Given the description of an element on the screen output the (x, y) to click on. 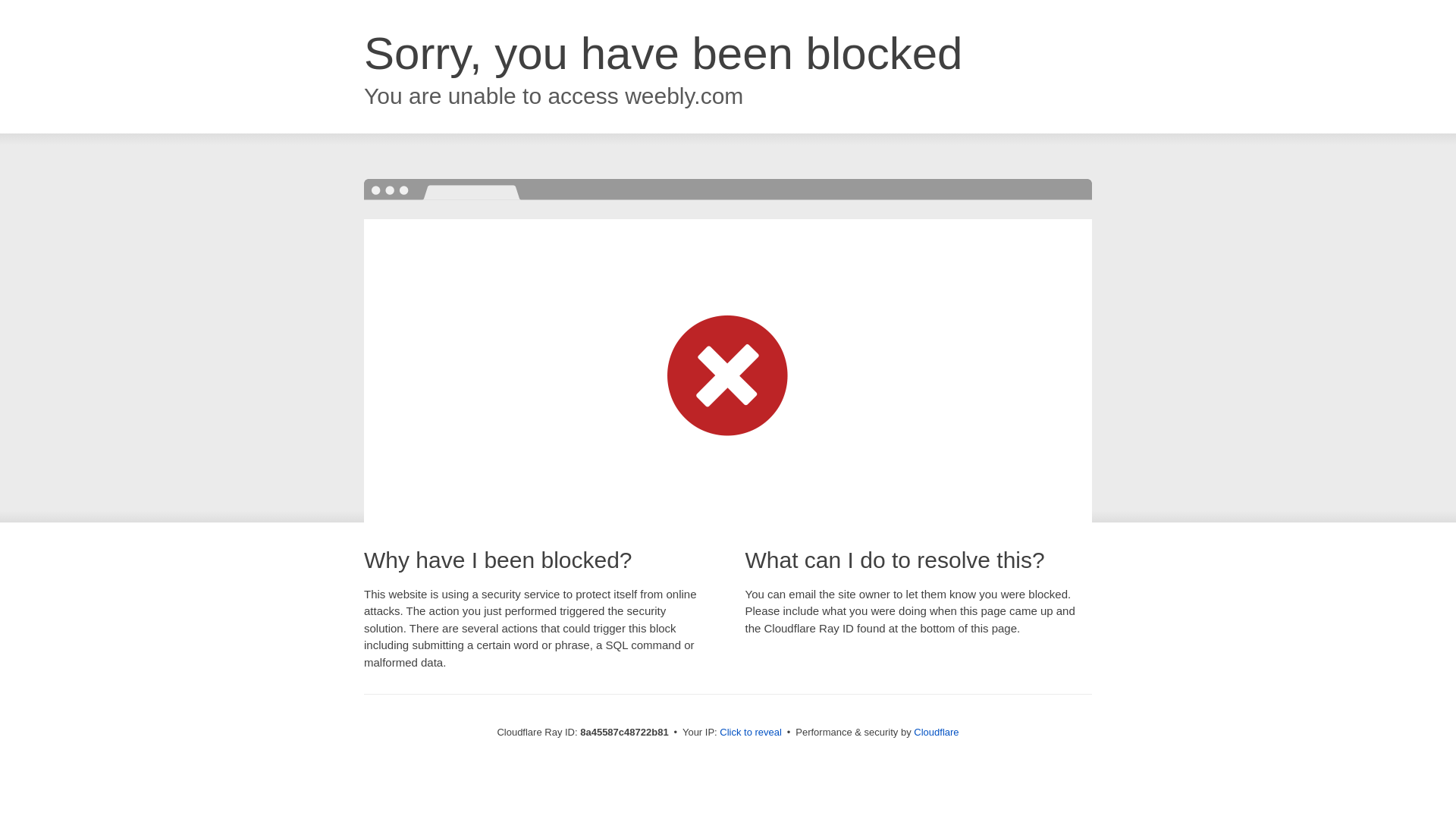
Click to reveal (750, 732)
Cloudflare (936, 731)
